Given the description of an element on the screen output the (x, y) to click on. 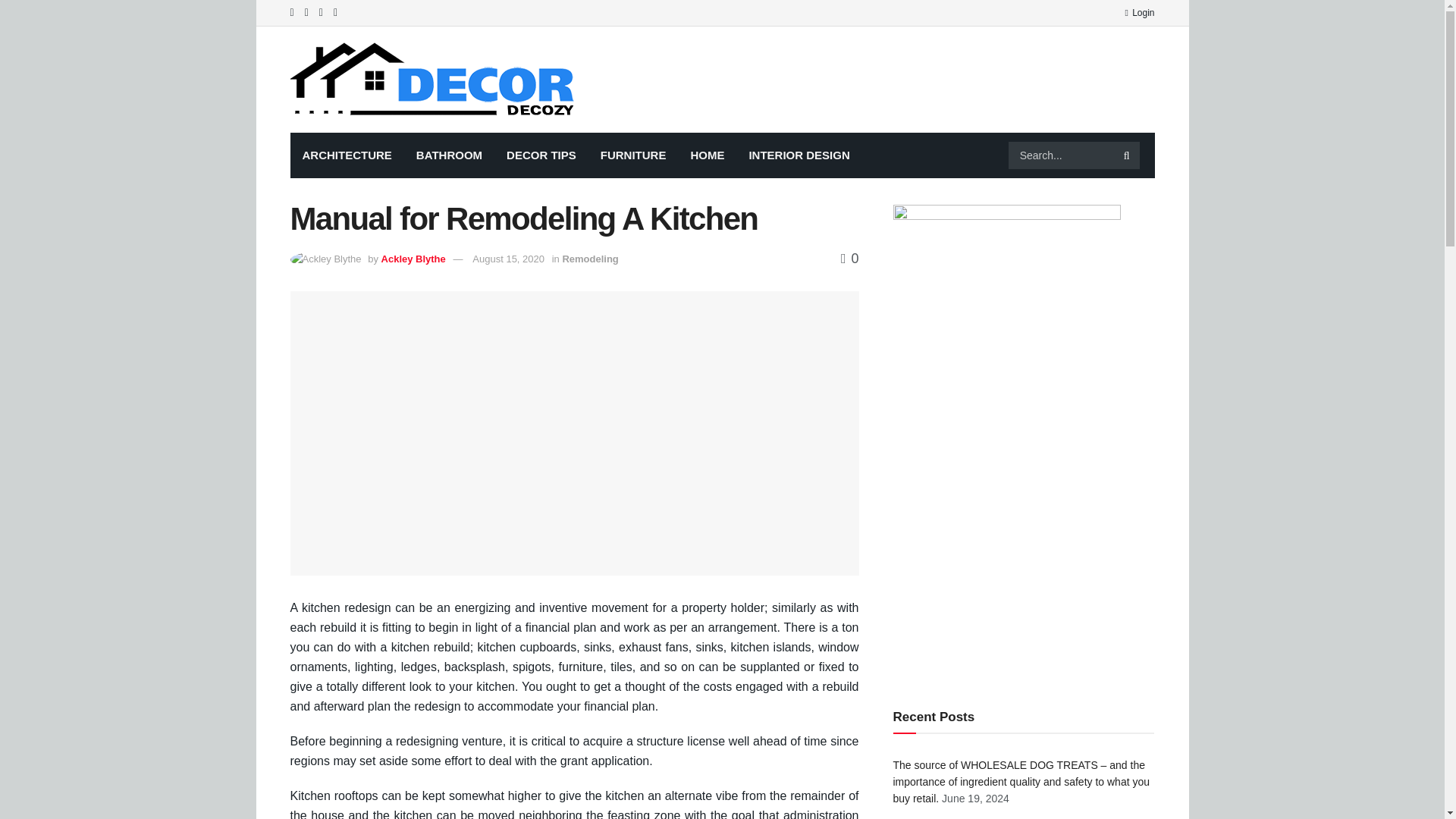
ARCHITECTURE (346, 155)
August 15, 2020 (507, 258)
FURNITURE (633, 155)
DECOR TIPS (541, 155)
Login (1139, 12)
HOME (707, 155)
INTERIOR DESIGN (798, 155)
0 (850, 258)
BATHROOM (449, 155)
Ackley Blythe (413, 258)
Remodeling (589, 258)
